Given the description of an element on the screen output the (x, y) to click on. 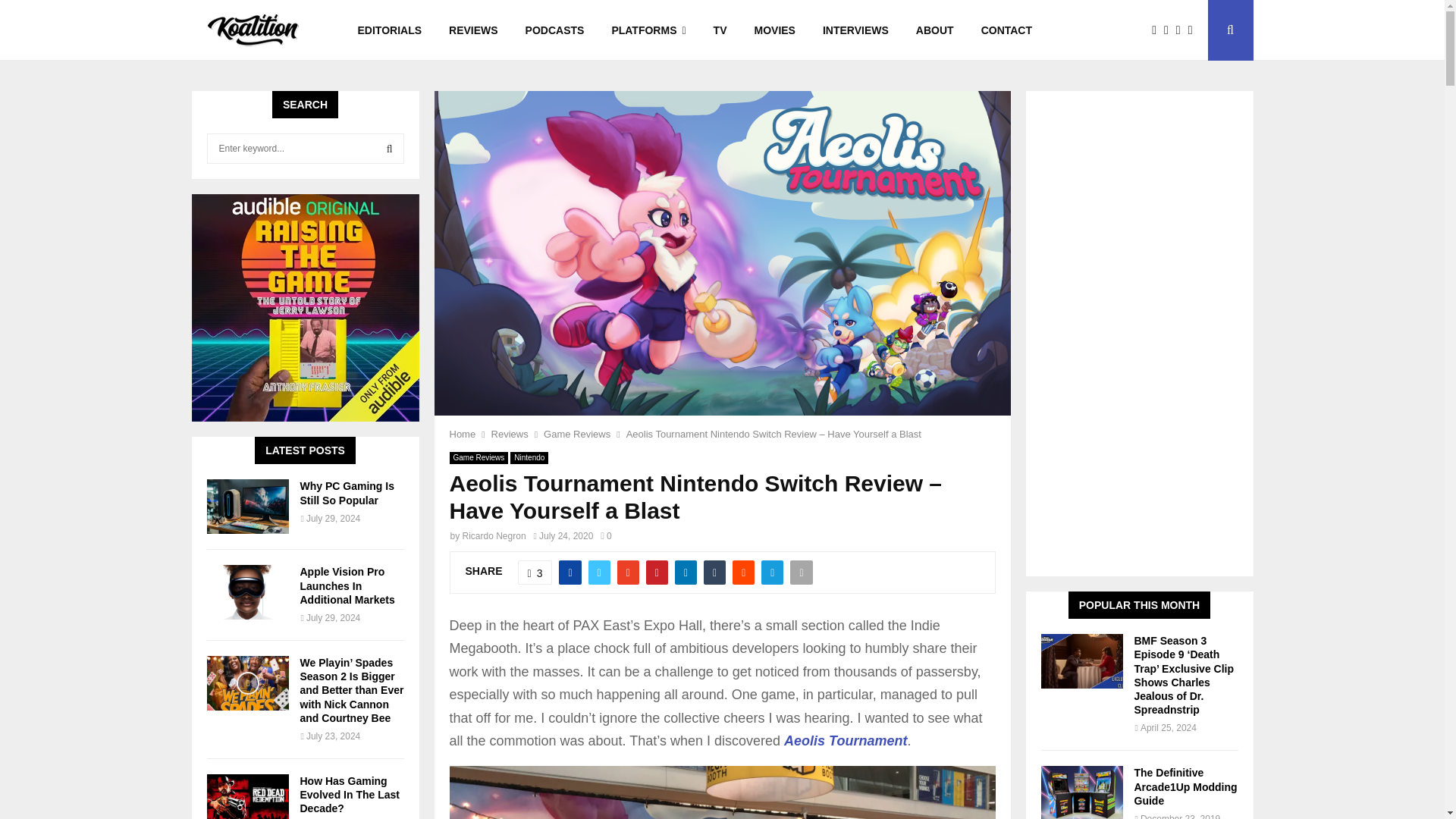
MOVIES (773, 30)
ABOUT (935, 30)
Like (535, 571)
EDITORIALS (389, 30)
PODCASTS (555, 30)
REVIEWS (473, 30)
PLATFORMS (647, 30)
INTERVIEWS (855, 30)
CONTACT (1006, 30)
